Given the description of an element on the screen output the (x, y) to click on. 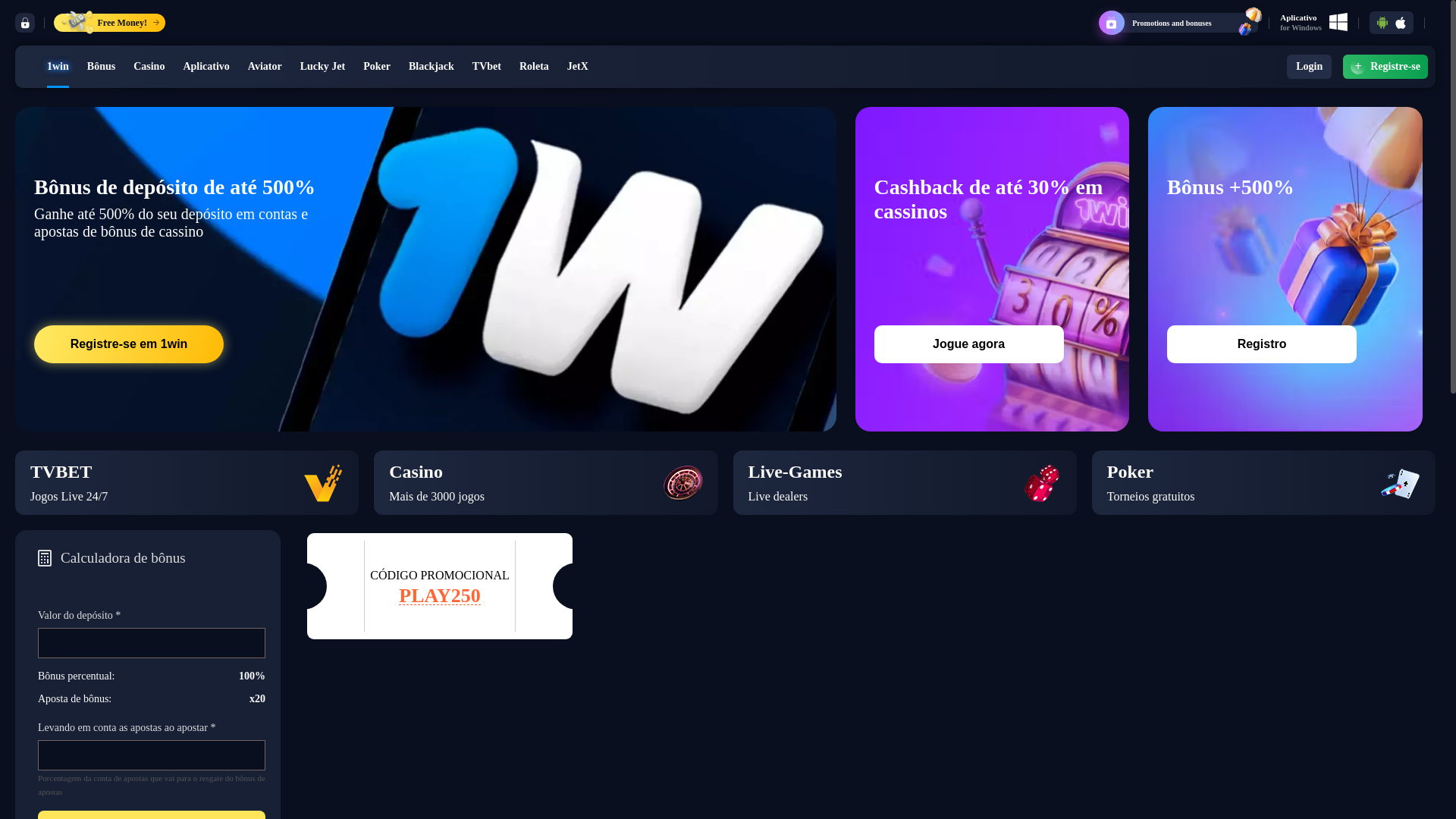
+
Registre-se Element type: text (1385, 66)
Roleta Element type: text (534, 66)
Jogue agora Element type: text (968, 344)
Lucky Jet Element type: text (322, 66)
PLAY250 Element type: text (439, 596)
Aplicativo Element type: text (205, 66)
JetX Element type: text (577, 66)
Registro Element type: text (1261, 344)
TVBET
Jogos Live 24/7 Element type: text (186, 482)
Poker Element type: text (376, 66)
Free Money! Element type: text (109, 22)
Casino Element type: text (148, 66)
Live-Games
Live dealers Element type: text (904, 482)
TVbet Element type: text (486, 66)
Poker
Torneios gratuitos Element type: text (1263, 482)
Blackjack Element type: text (431, 66)
1win Element type: text (58, 66)
Registre-se em 1win Element type: text (128, 344)
Promotions and bonuses Element type: text (1182, 22)
Login Element type: text (1308, 66)
Aviator Element type: text (264, 66)
Casino
Mais de 3000 jogos Element type: text (545, 482)
